Given the description of an element on the screen output the (x, y) to click on. 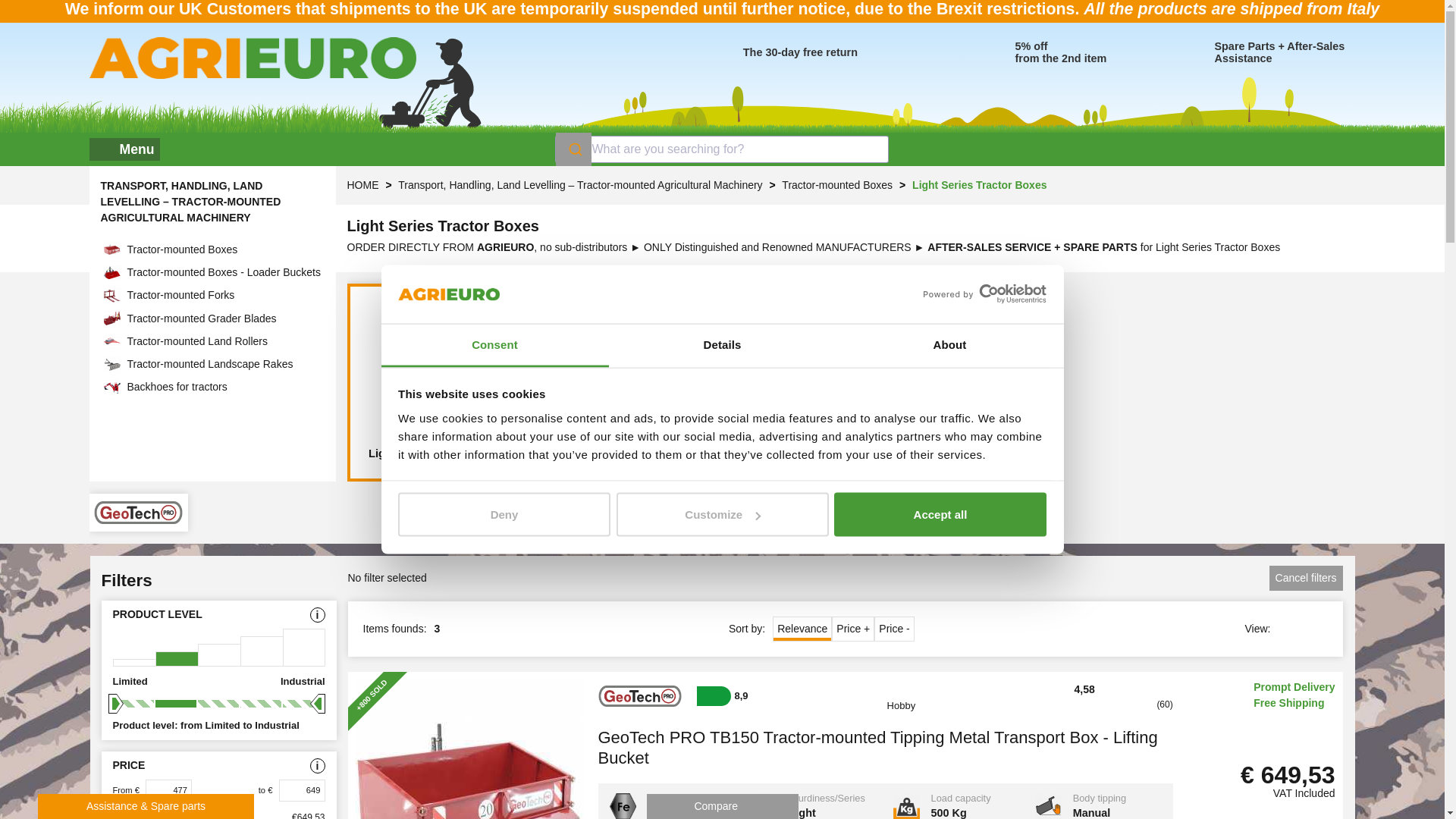
About (948, 344)
Submit (573, 149)
649 (301, 790)
Details (721, 344)
Consent (494, 344)
477 (168, 790)
